Given the description of an element on the screen output the (x, y) to click on. 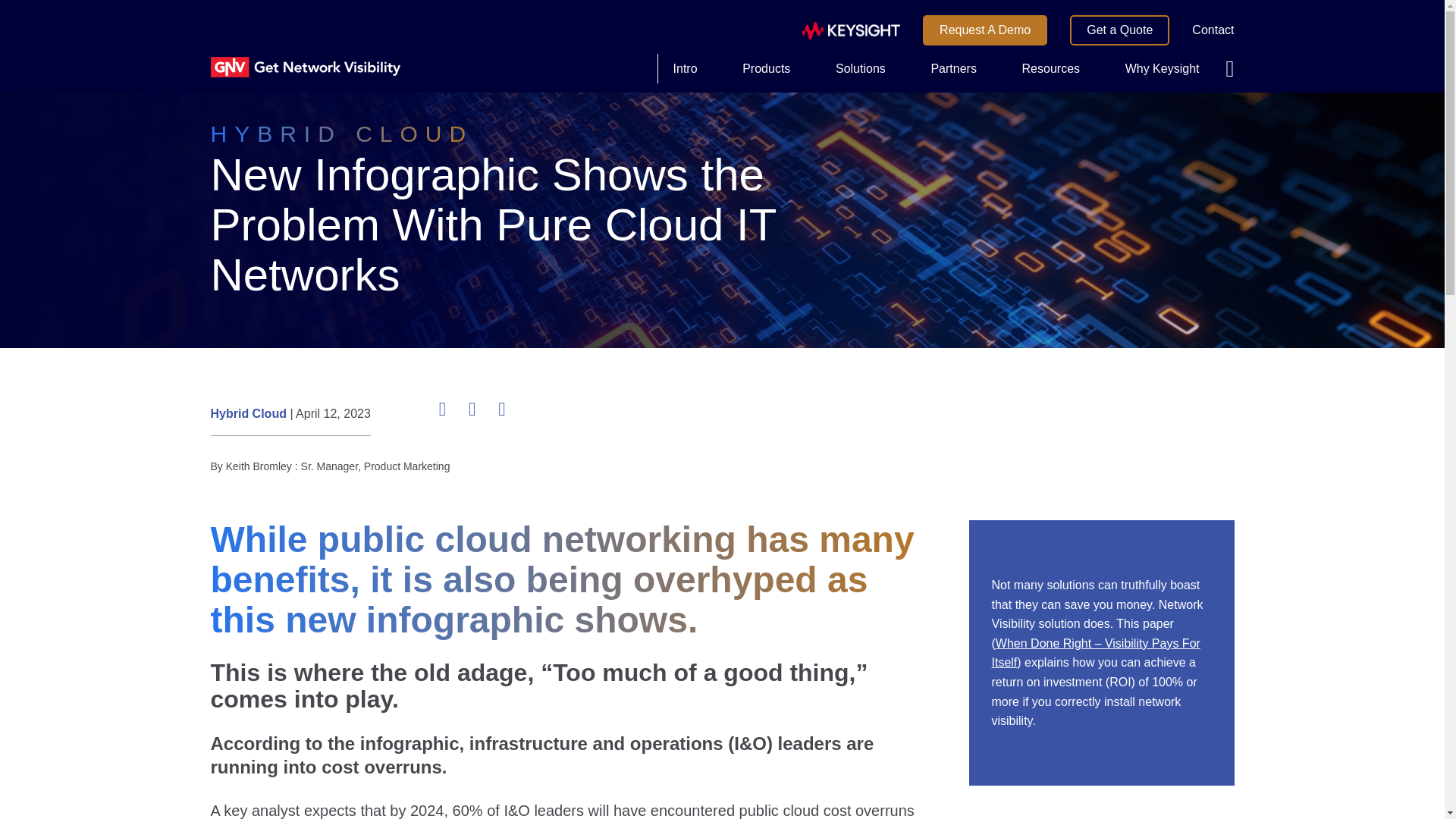
Contact (1212, 29)
Hybrid Cloud (250, 413)
Solutions (861, 68)
Why Keysight (1161, 68)
HYBRID CLOUD (342, 133)
Request A Demo (984, 30)
Intro (685, 68)
Get a Quote (1119, 30)
Products (765, 68)
Partners (953, 68)
